Given the description of an element on the screen output the (x, y) to click on. 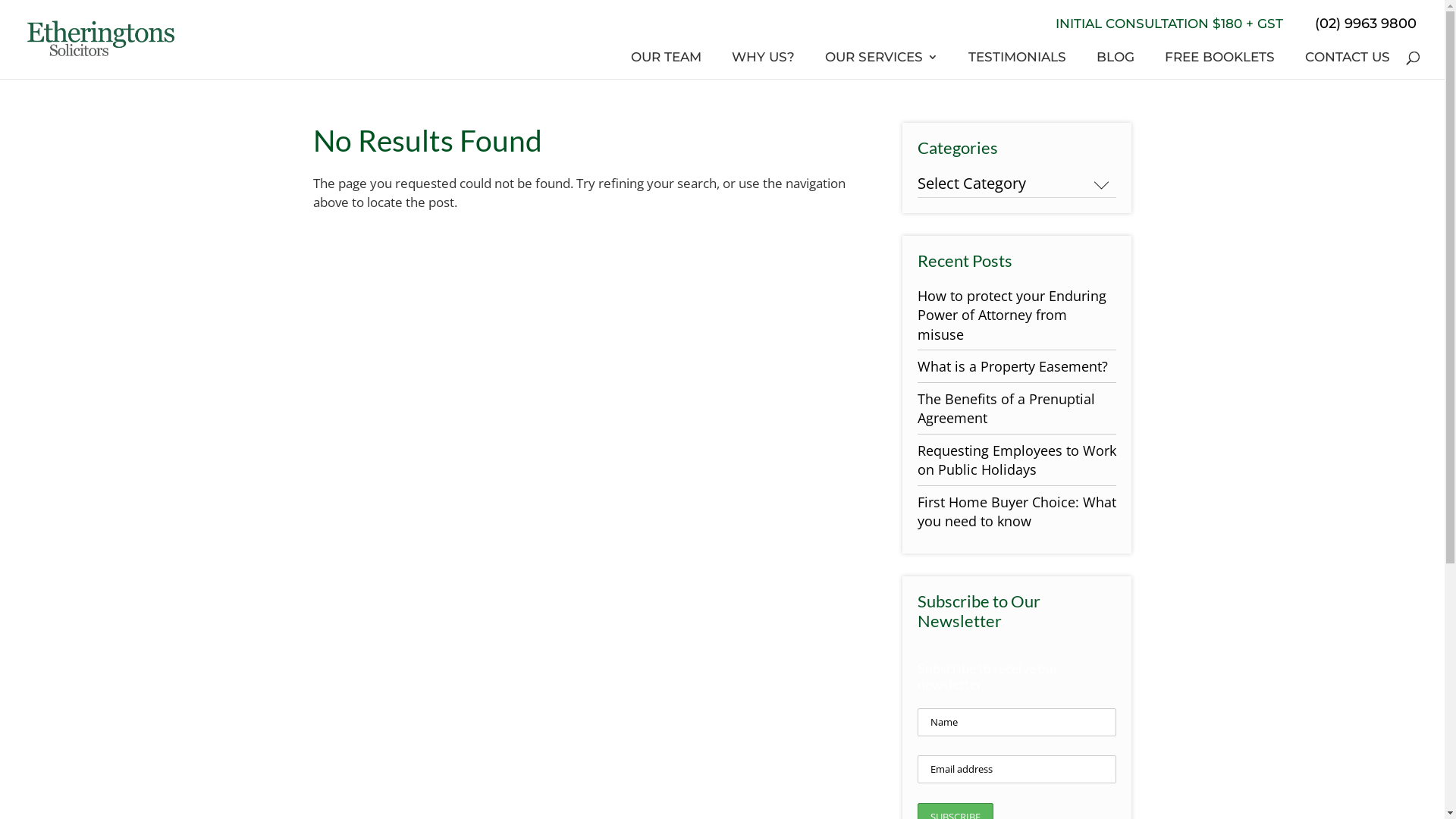
The Benefits of a Prenuptial Agreement Element type: text (1006, 408)
BLOG Element type: text (1115, 61)
OUR SERVICES Element type: text (881, 61)
CONTACT US Element type: text (1347, 61)
First Home Buyer Choice: What you need to know Element type: text (1016, 511)
TESTIMONIALS Element type: text (1017, 61)
Requesting Employees to Work on Public Holidays Element type: text (1016, 460)
  (02) 9963 9800  Element type: text (1356, 23)
WHY US? Element type: text (762, 61)
FREE BOOKLETS Element type: text (1219, 61)
OUR TEAM Element type: text (665, 61)
How to protect your Enduring Power of Attorney from misuse Element type: text (1011, 314)
What is a Property Easement? Element type: text (1012, 366)
